Given the description of an element on the screen output the (x, y) to click on. 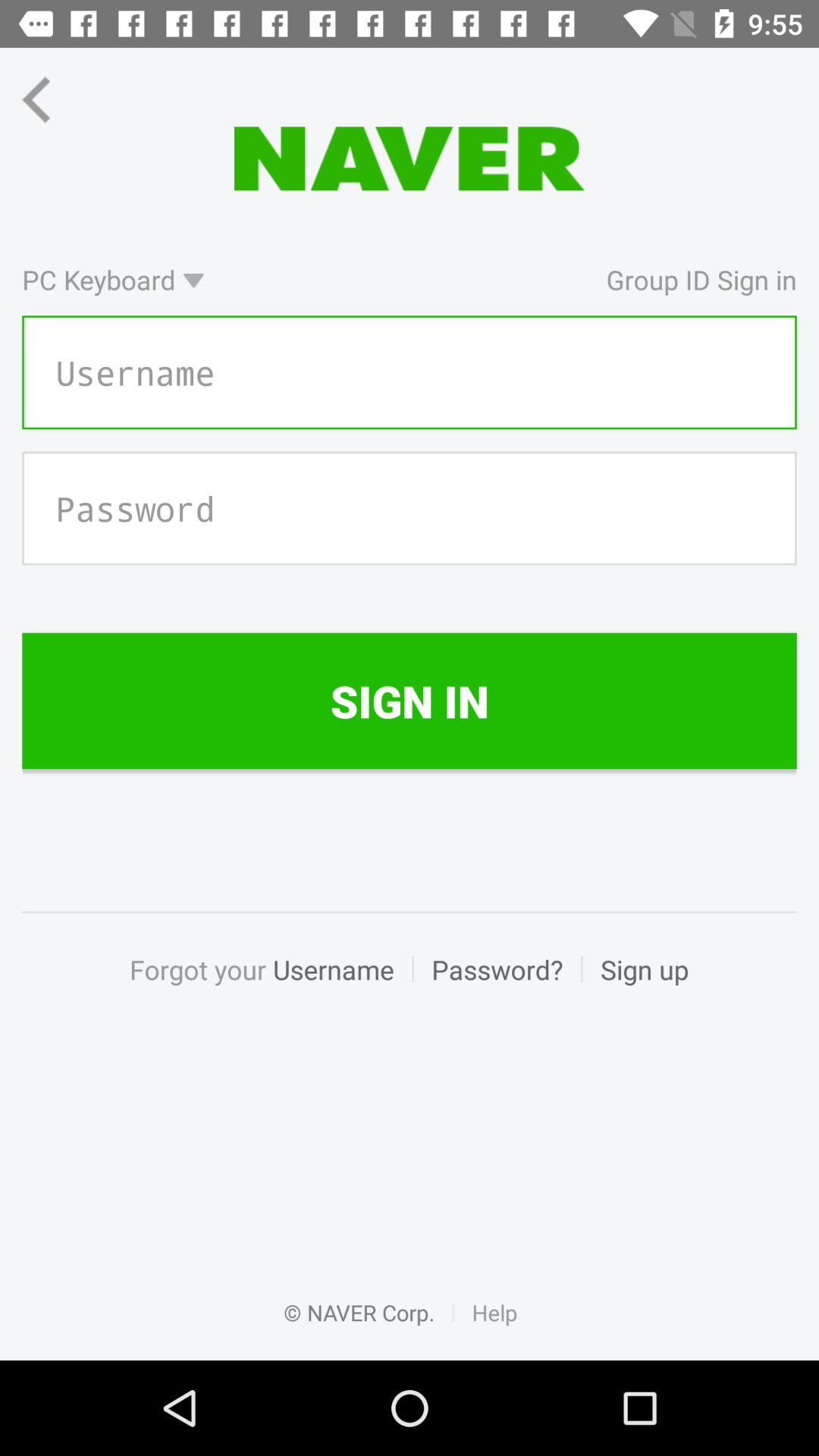
open group id sign icon (508, 279)
